Given the description of an element on the screen output the (x, y) to click on. 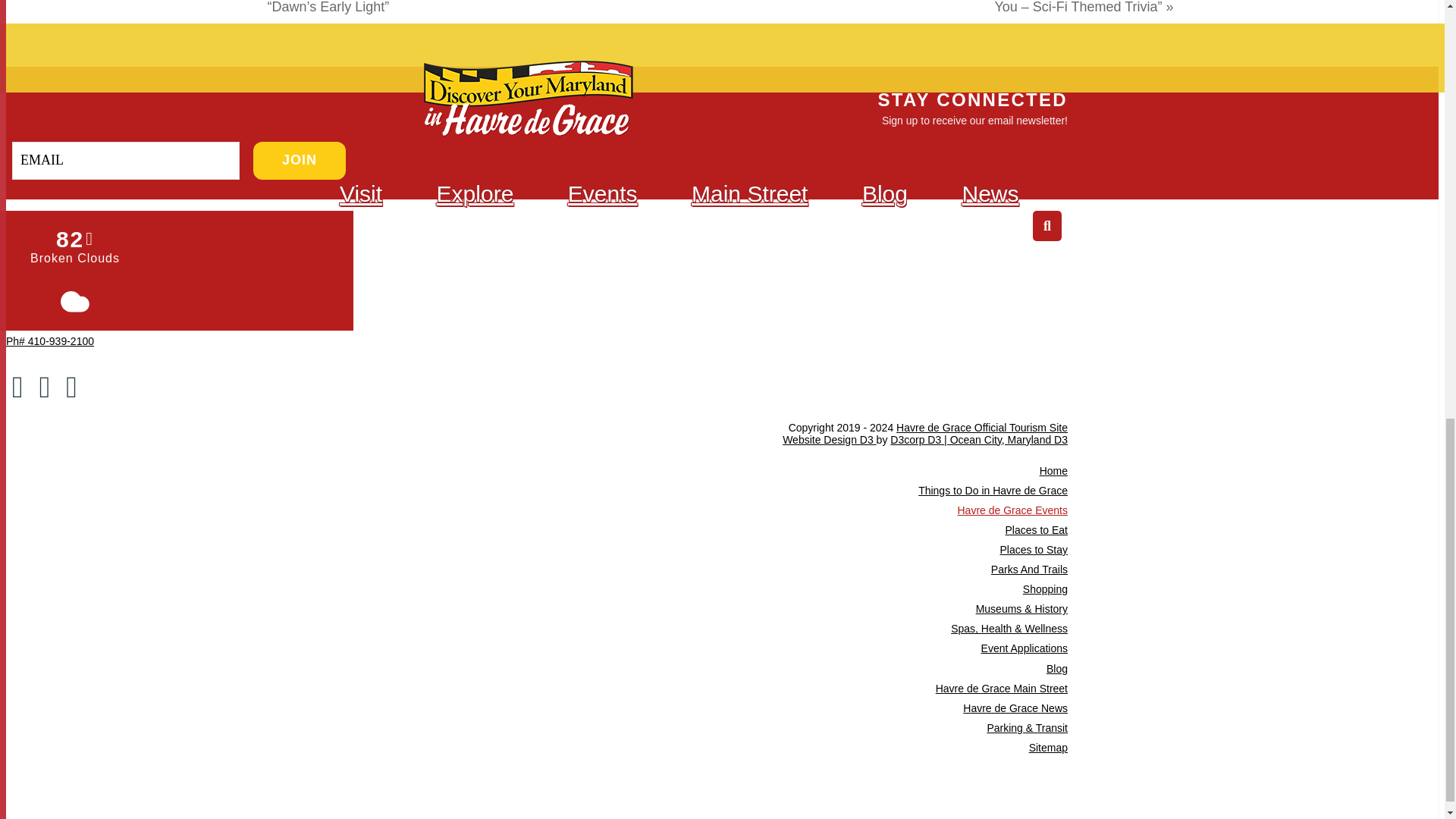
JOIN (299, 160)
